Given the description of an element on the screen output the (x, y) to click on. 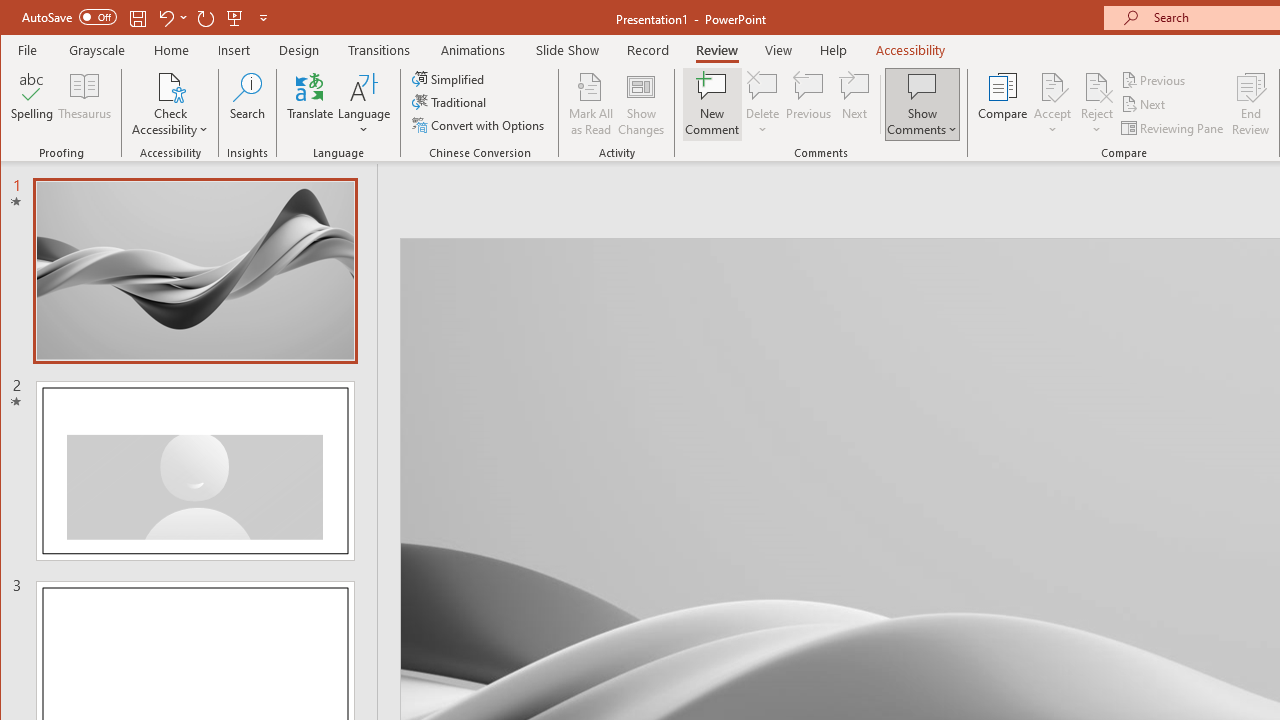
Grayscale (97, 50)
Translate (310, 104)
Convert with Options... (479, 124)
Simplified (450, 78)
Accept (1052, 104)
Reject Change (1096, 86)
Traditional (450, 101)
